Given the description of an element on the screen output the (x, y) to click on. 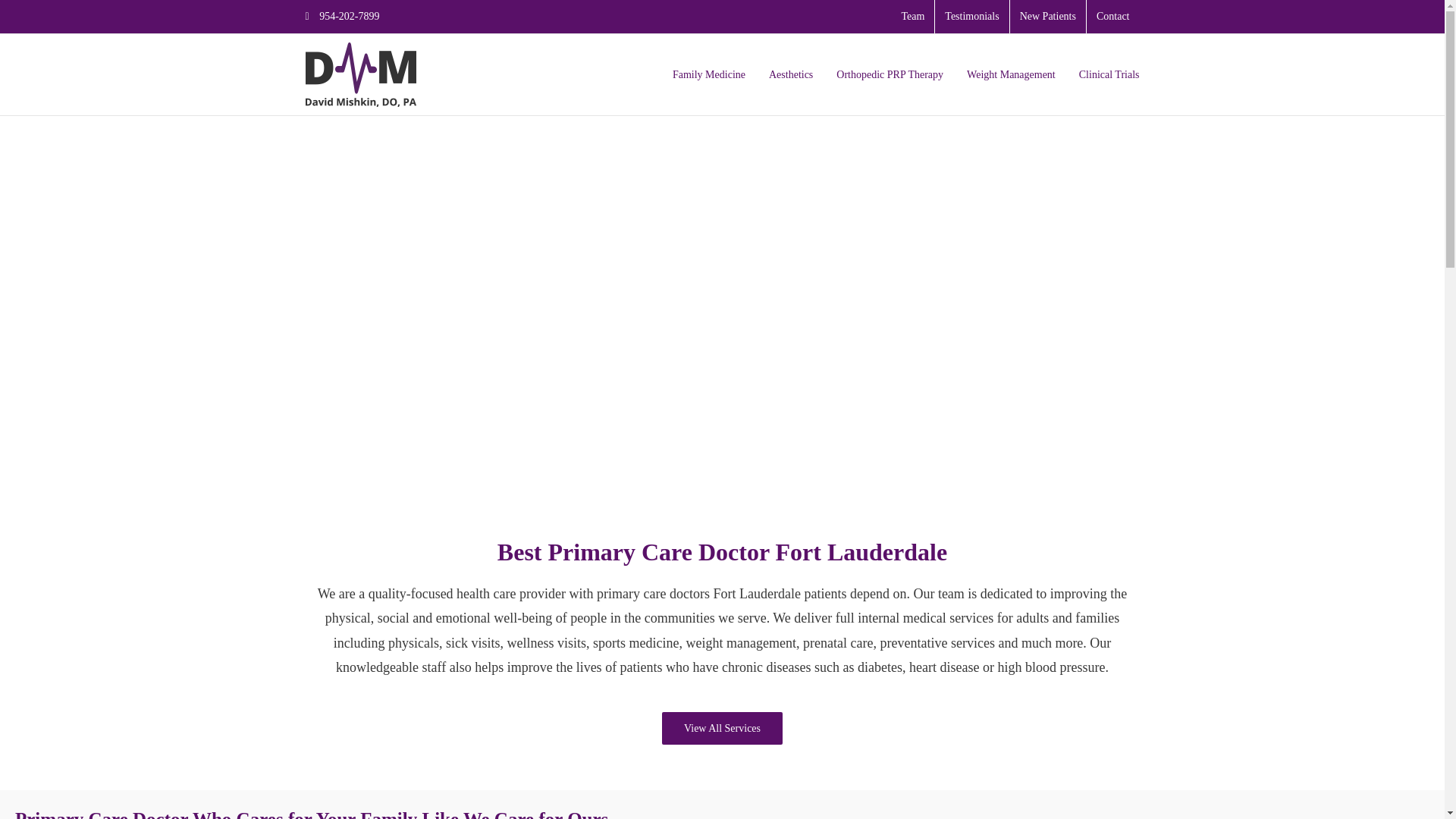
Team (912, 16)
View All Services (722, 727)
Weight Management (1010, 74)
New Patients (1048, 16)
Contact (1113, 16)
Testimonials (971, 16)
954-202-7899 (341, 16)
Family Medicine (708, 74)
Orthopedic PRP Therapy (889, 74)
